Given the description of an element on the screen output the (x, y) to click on. 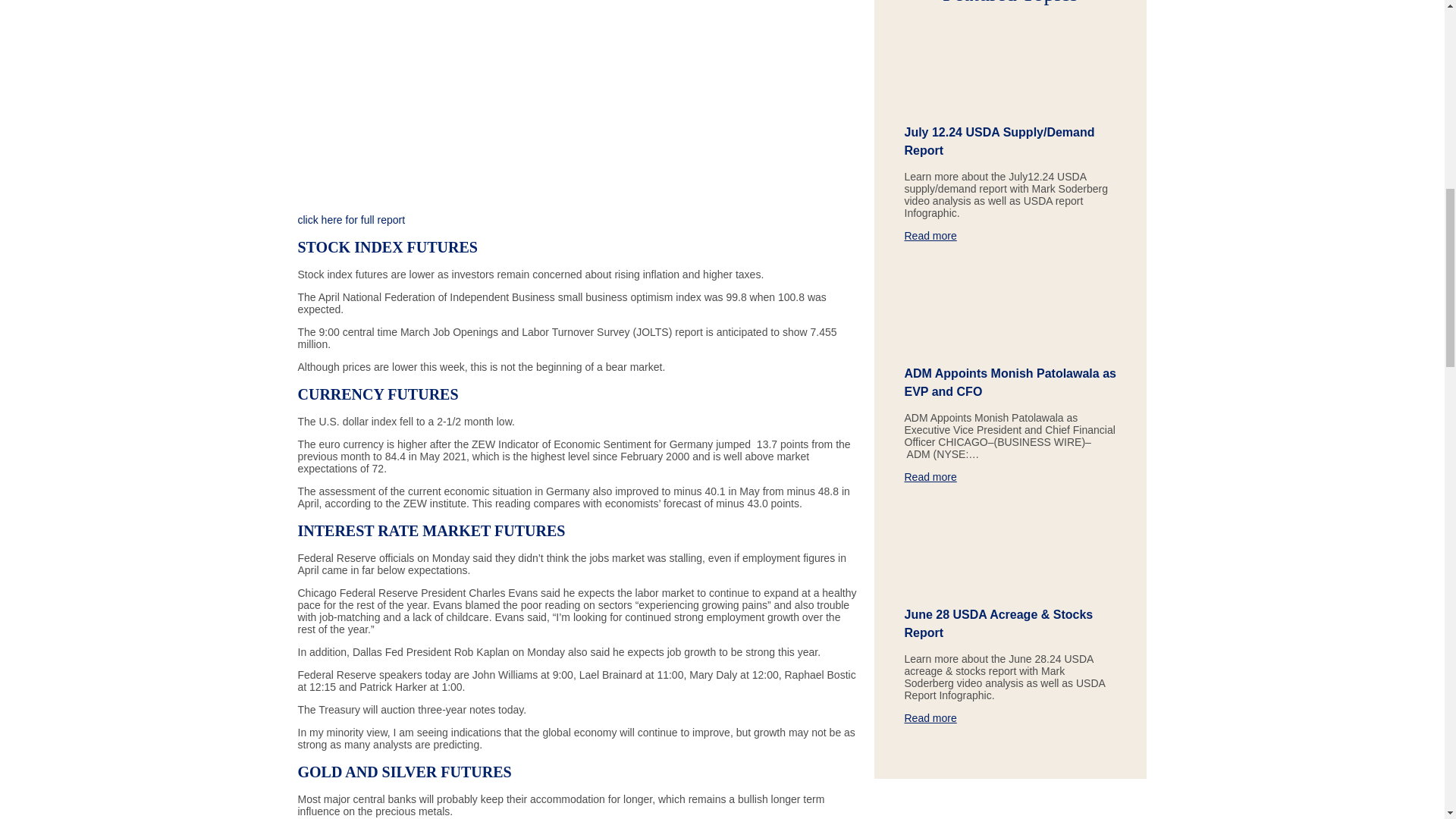
YouTube video player (578, 100)
